Given the description of an element on the screen output the (x, y) to click on. 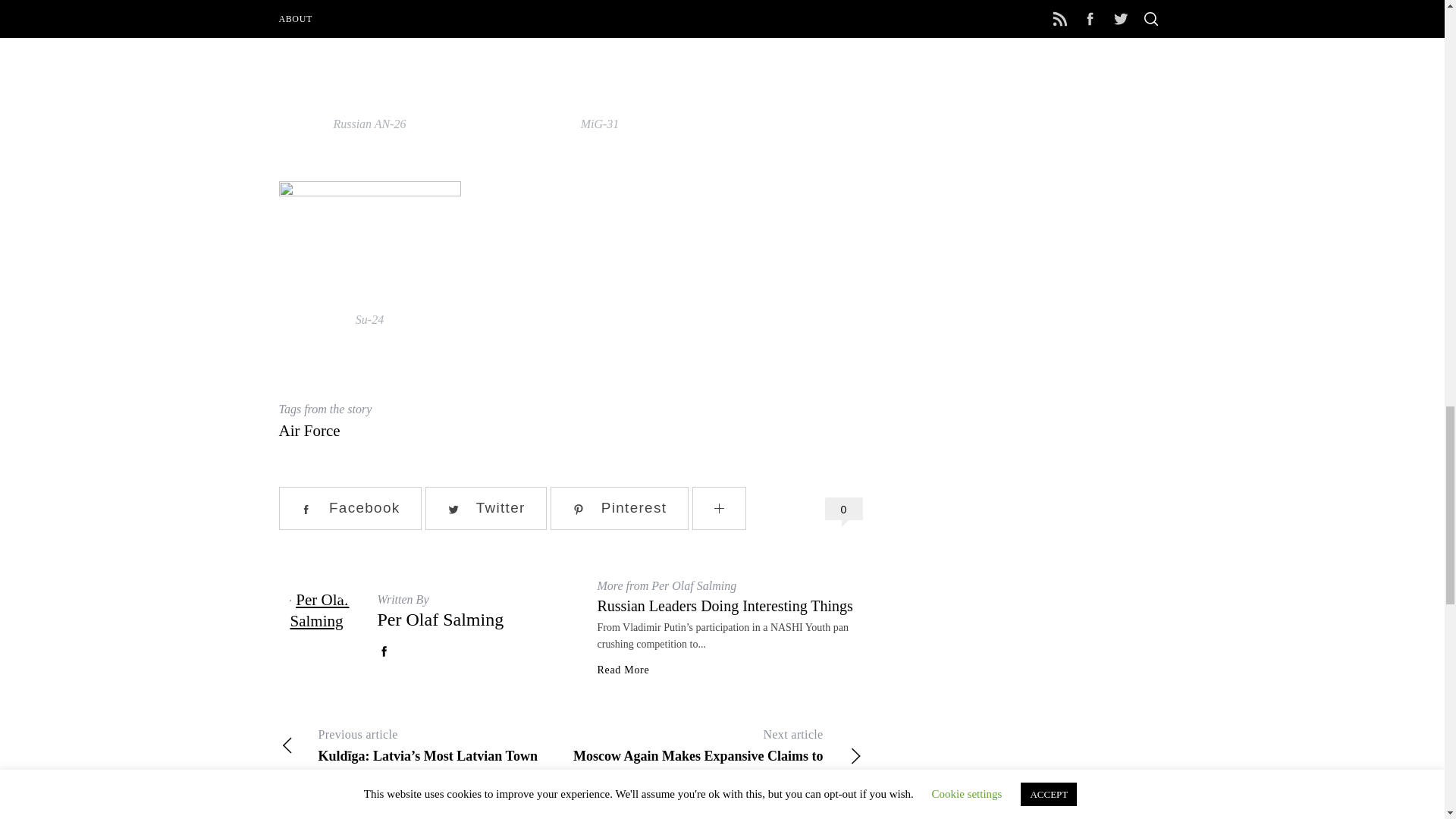
Facebook (350, 507)
0 (844, 508)
Air Force (309, 430)
